Given the description of an element on the screen output the (x, y) to click on. 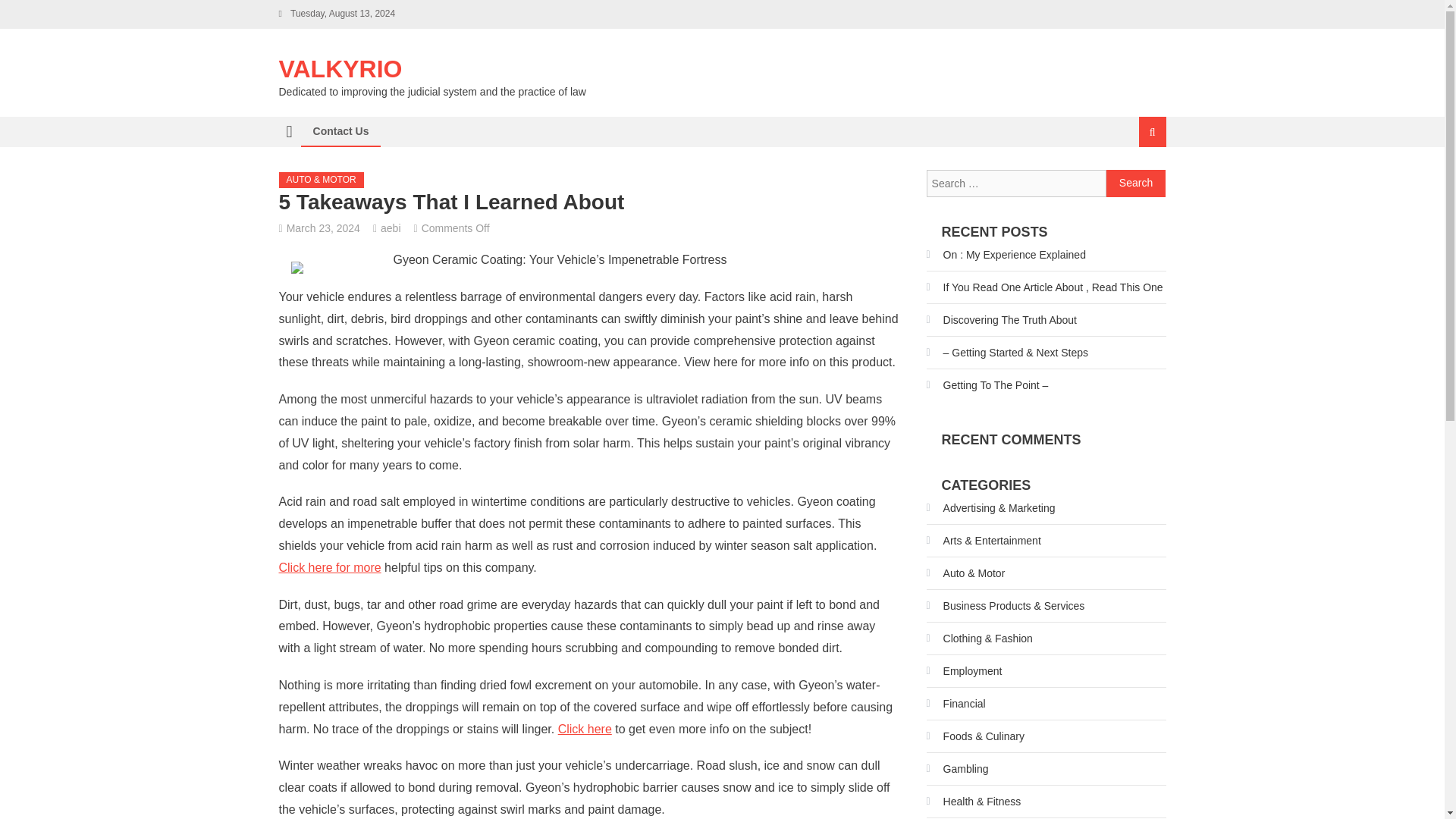
On : My Experience Explained (1006, 254)
VALKYRIO (341, 68)
March 23, 2024 (322, 227)
Click here (584, 727)
Search (1136, 183)
If You Read One Article About , Read This One (1044, 287)
Search (1136, 183)
Search (1133, 182)
Search (1136, 183)
Click here for more (330, 567)
